Given the description of an element on the screen output the (x, y) to click on. 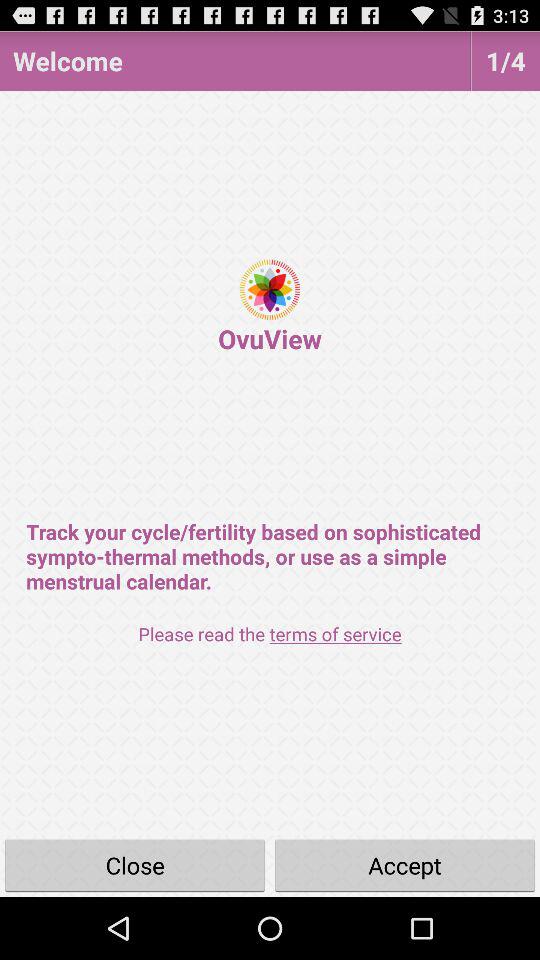
tap the icon to the left of the accept button (135, 864)
